Given the description of an element on the screen output the (x, y) to click on. 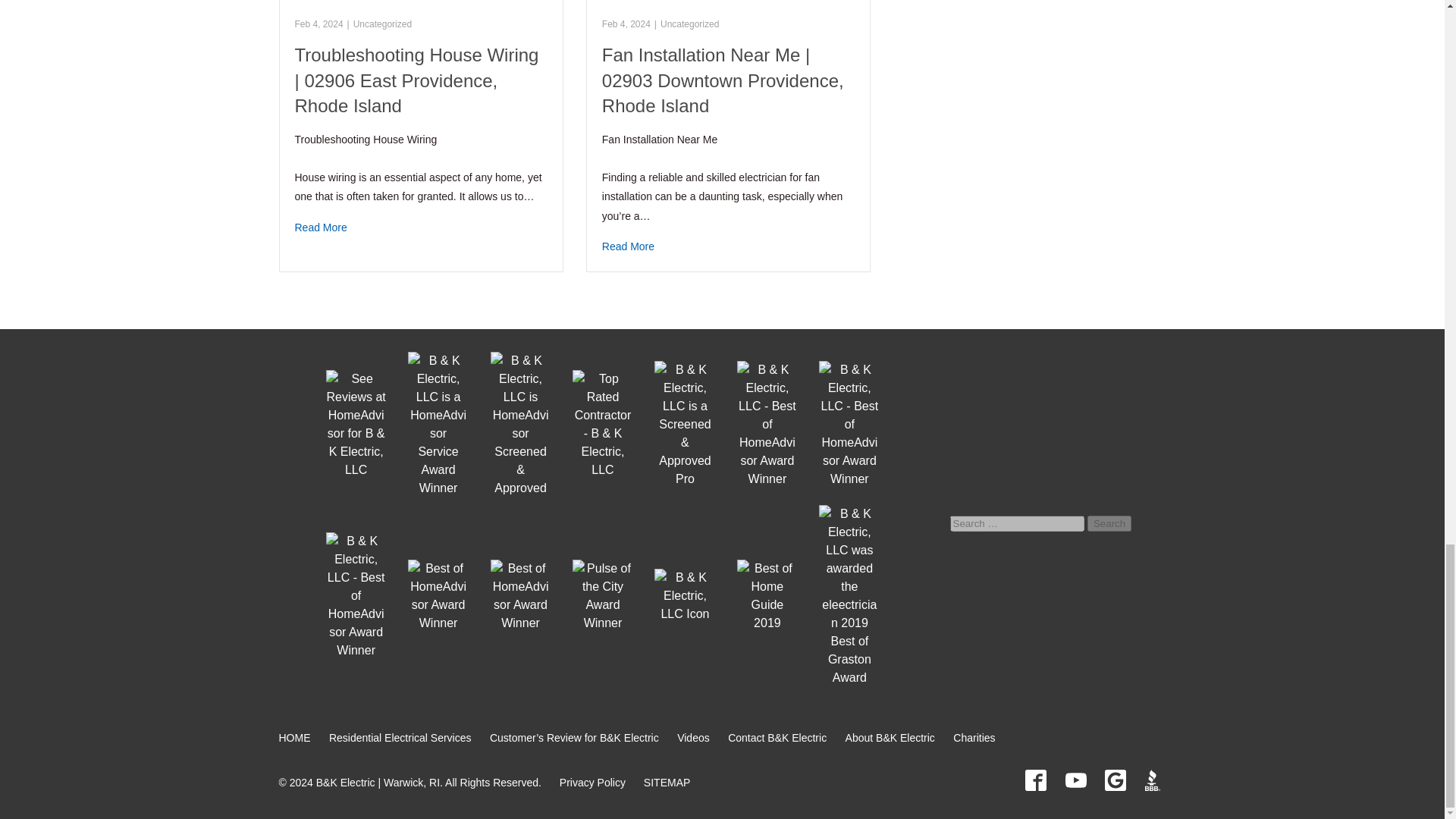
bbb (1155, 780)
facebook (1035, 780)
Search (1109, 523)
google (1115, 780)
Search (1109, 523)
youtube (1075, 780)
